Given the description of an element on the screen output the (x, y) to click on. 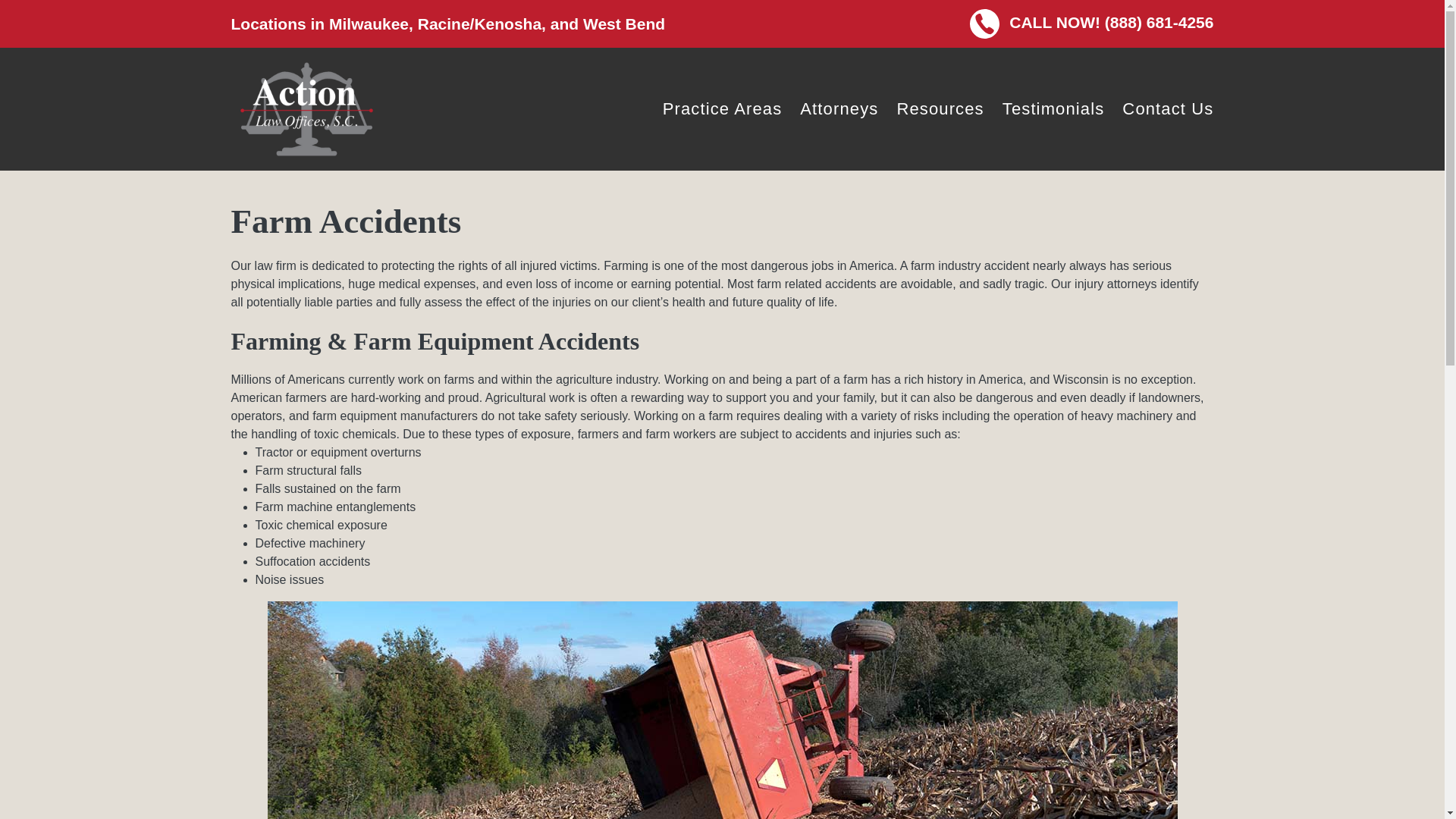
Contact Us (1167, 108)
Testimonials (1054, 108)
Attorneys (838, 108)
